Given the description of an element on the screen output the (x, y) to click on. 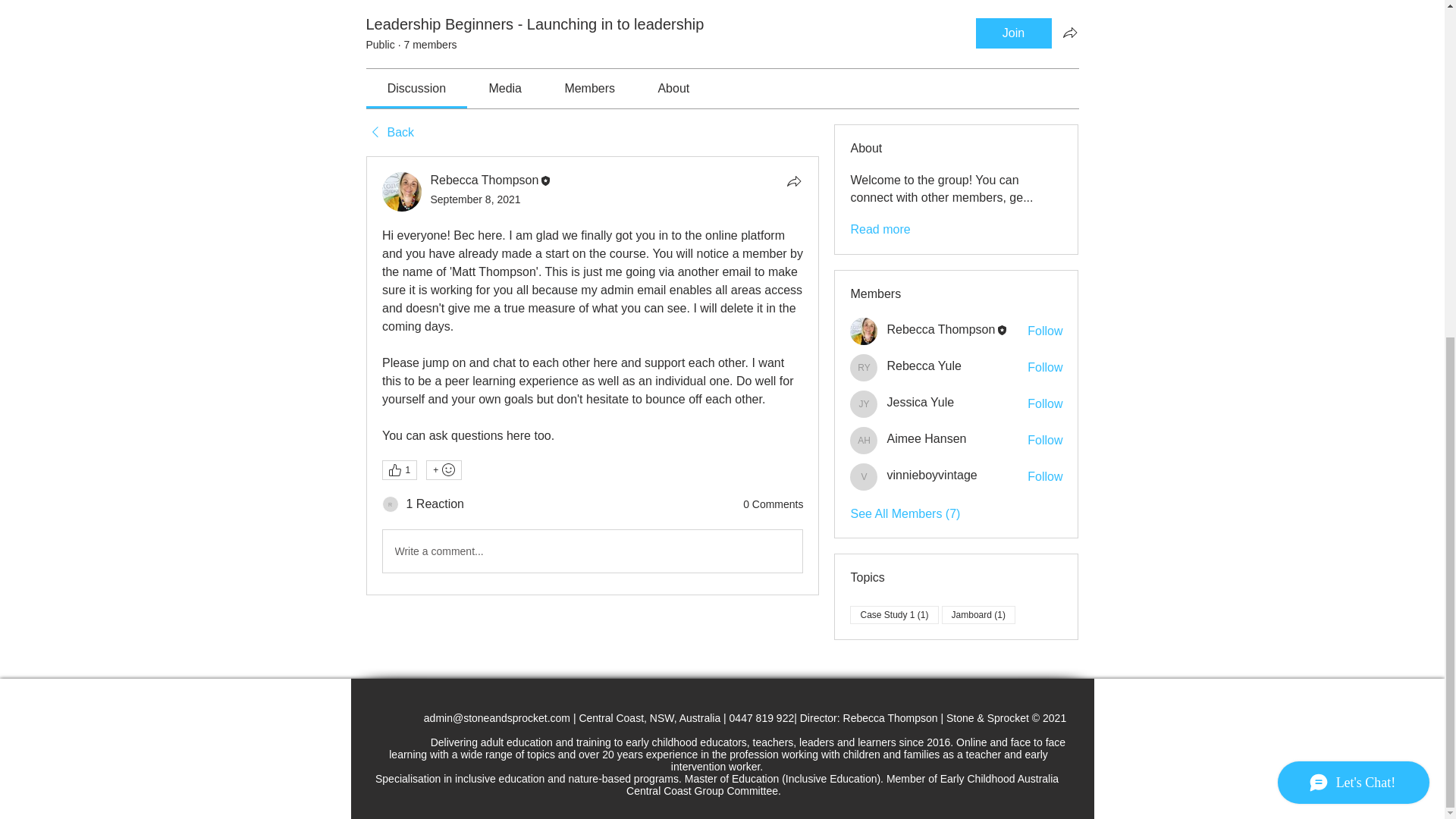
Join (1013, 33)
Follow (1044, 367)
Rebecca Yule (863, 367)
Rebecca Thompson (940, 328)
Back (389, 132)
Read more (880, 229)
Follow (1044, 330)
Rebecca Thompson (484, 179)
Write a comment... (591, 550)
Jessica Yule (919, 401)
1 Reaction (435, 504)
Jessica Yule (863, 403)
Rebecca Thompson (863, 330)
